Given the description of an element on the screen output the (x, y) to click on. 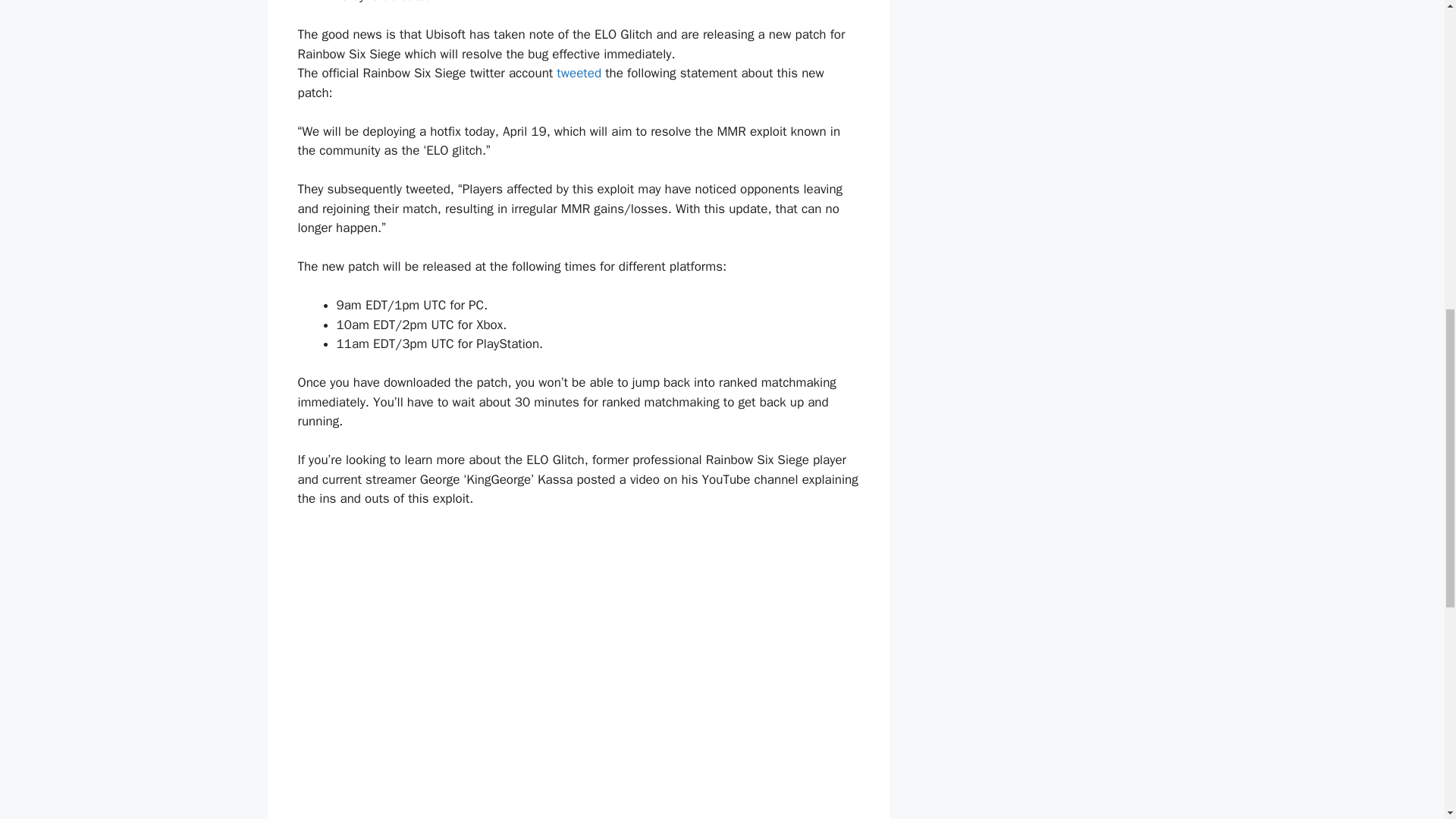
tweeted (578, 73)
